Given the description of an element on the screen output the (x, y) to click on. 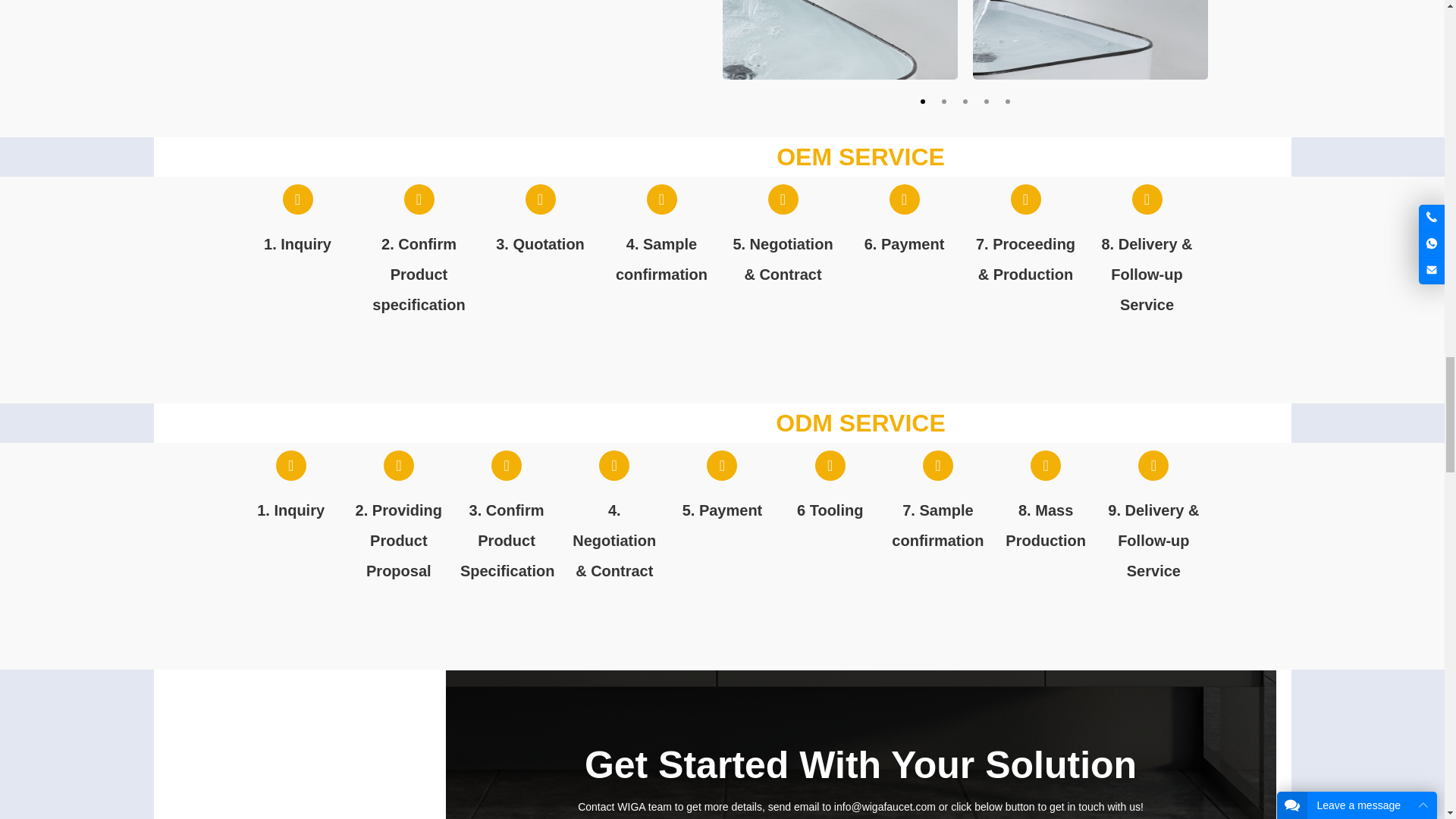
Products 8 (839, 39)
Products 9 (1089, 39)
